Given the description of an element on the screen output the (x, y) to click on. 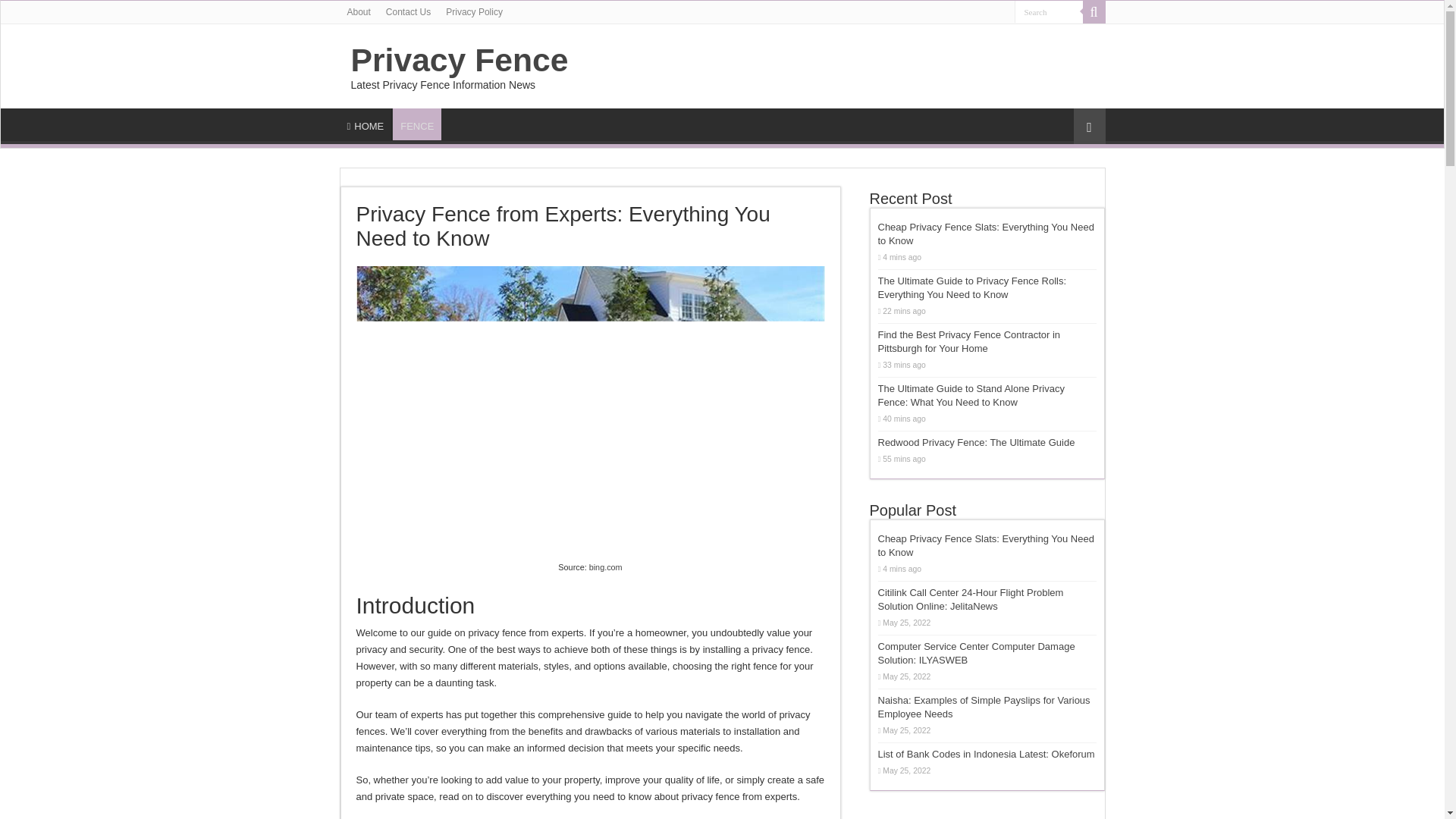
Computer Service Center Computer Damage Solution: ILYASWEB (976, 652)
Cheap Privacy Fence Slats: Everything You Need to Know (985, 233)
Random Article (1089, 126)
HOME (365, 124)
FENCE (416, 124)
bing.com (606, 566)
Search (1048, 11)
